Given the description of an element on the screen output the (x, y) to click on. 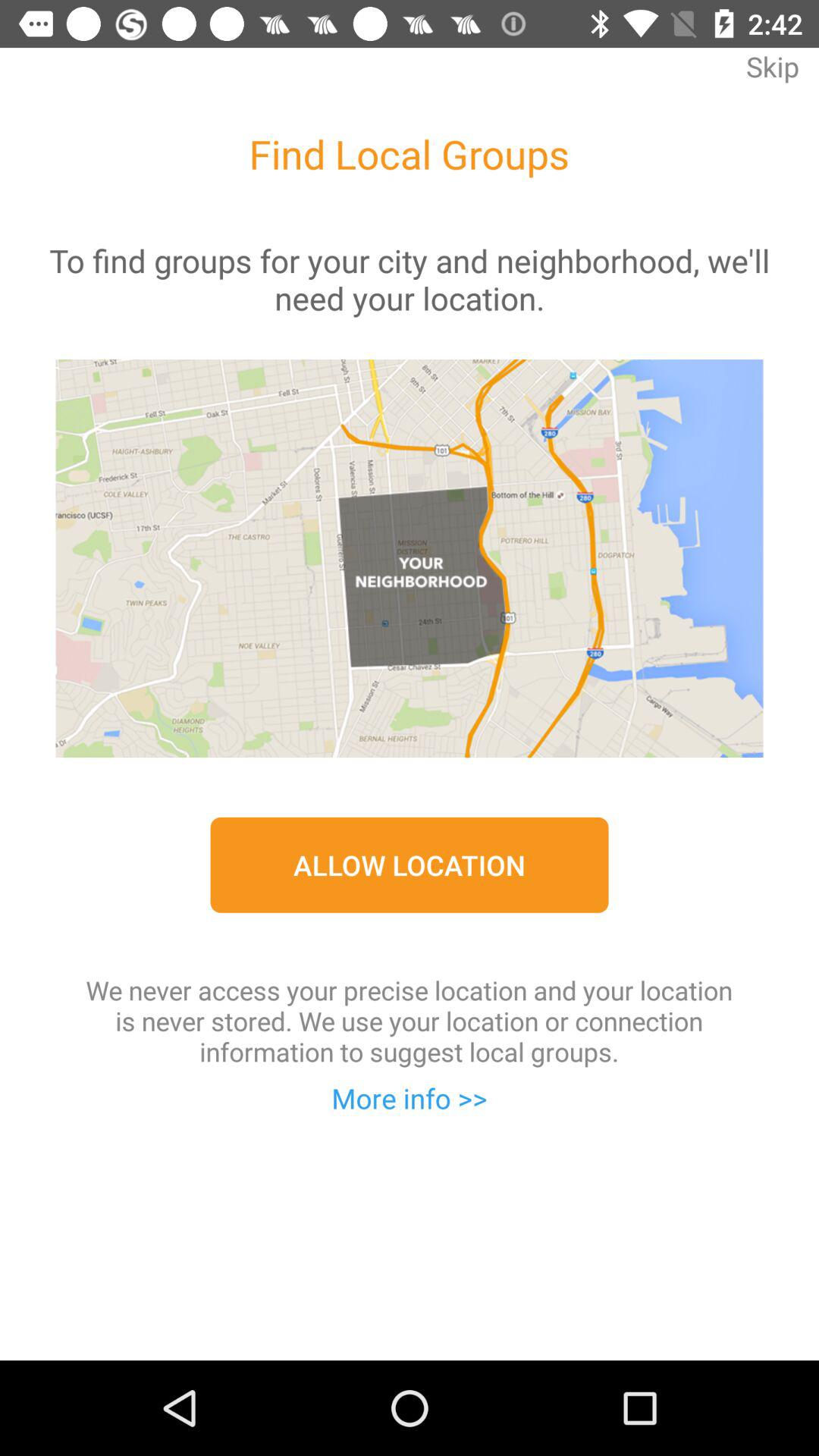
jump until the skip icon (772, 77)
